Given the description of an element on the screen output the (x, y) to click on. 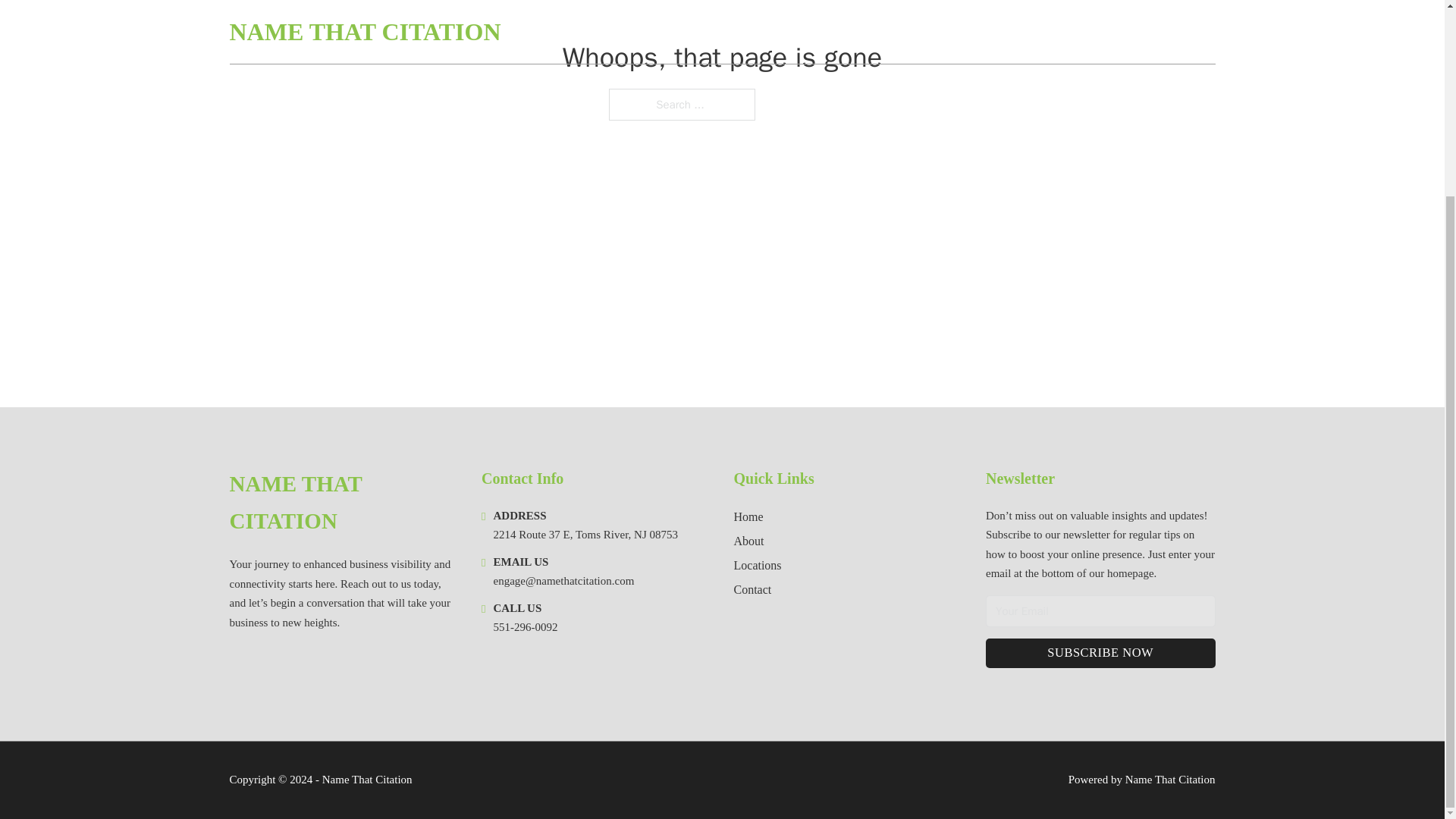
Locations (757, 565)
Home (747, 516)
551-296-0092 (525, 626)
NAME THAT CITATION (343, 503)
Contact (752, 589)
About (748, 540)
SUBSCRIBE NOW (1100, 653)
